Given the description of an element on the screen output the (x, y) to click on. 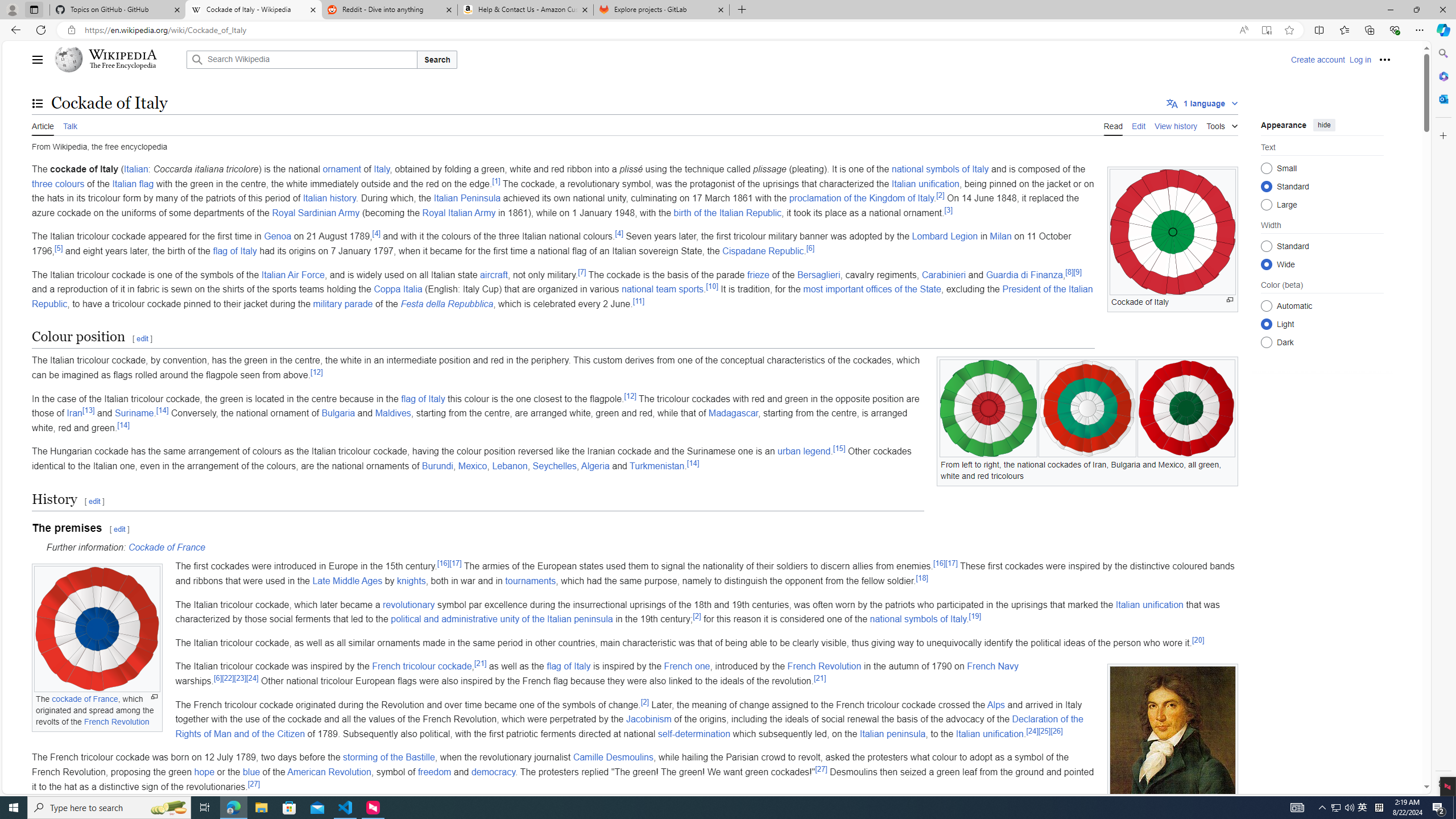
Address and search bar (658, 29)
President of the Italian Republic (562, 296)
Help & Contact Us - Amazon Customer Service (525, 9)
knights (411, 580)
Cockade of France (166, 547)
Reddit - Dive into anything (390, 9)
Log in (1360, 58)
View site information (70, 29)
Tools (1222, 124)
French one (686, 666)
[21] (820, 677)
Favorites (1344, 29)
Edit (1138, 124)
Genoa (277, 236)
edit (119, 528)
